Given the description of an element on the screen output the (x, y) to click on. 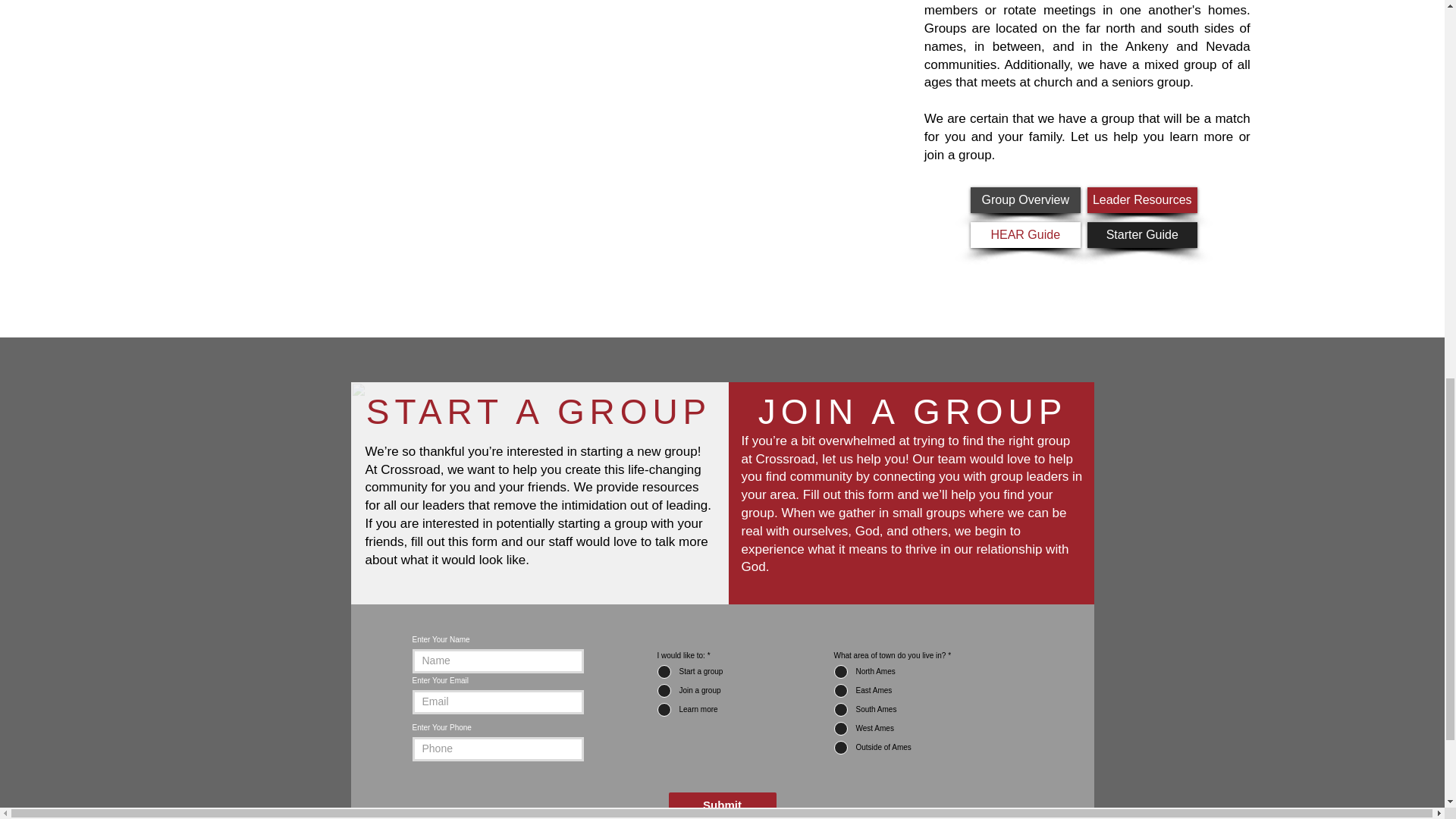
Submit (722, 804)
HEAR Guide (1025, 234)
Group Overview (1025, 199)
Starter Guide (1141, 234)
Leader Resources (1141, 199)
